Given the description of an element on the screen output the (x, y) to click on. 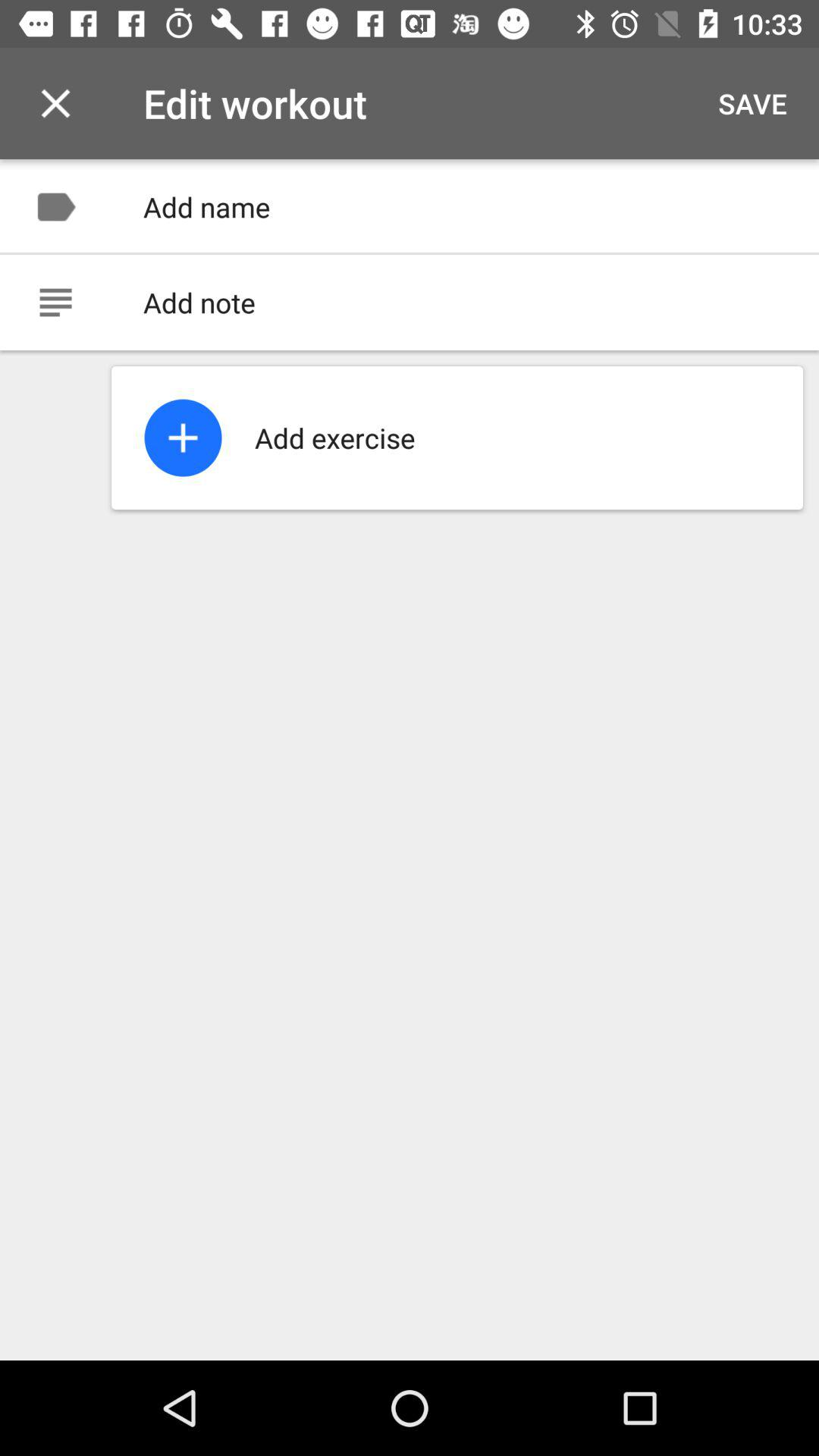
swipe to save (752, 103)
